Given the description of an element on the screen output the (x, y) to click on. 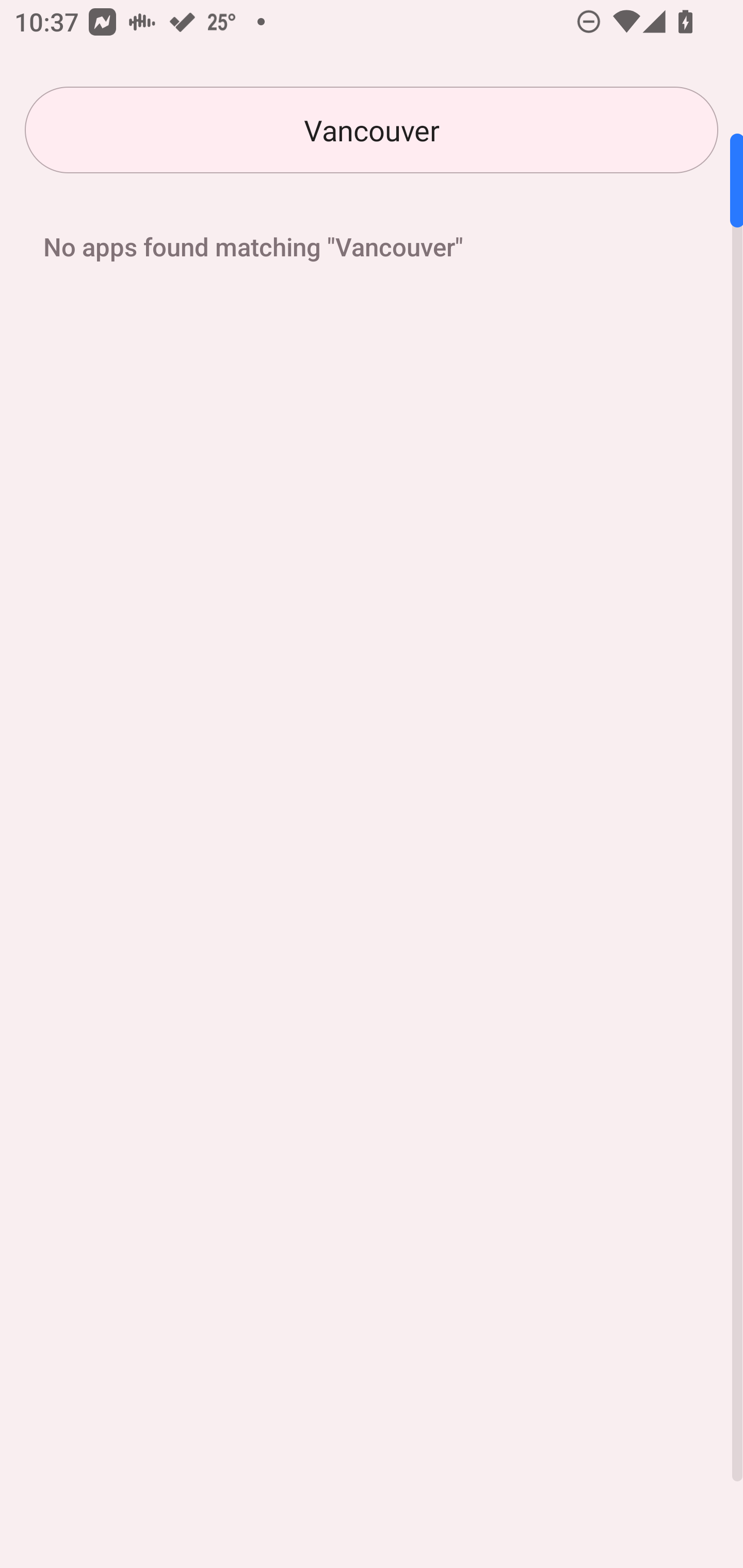
Vancouver (371, 130)
